Given the description of an element on the screen output the (x, y) to click on. 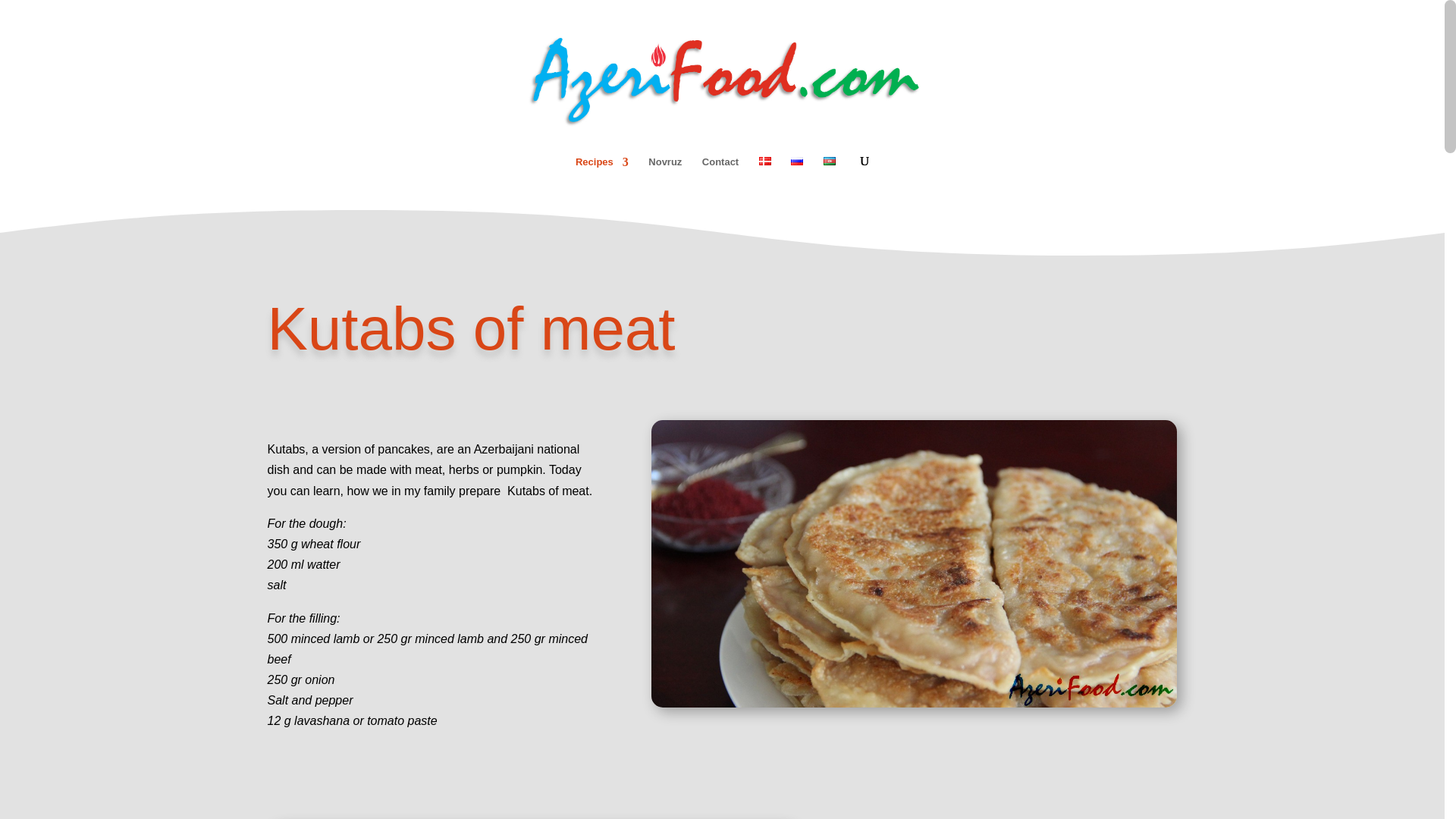
Recipes (601, 175)
